Given the description of an element on the screen output the (x, y) to click on. 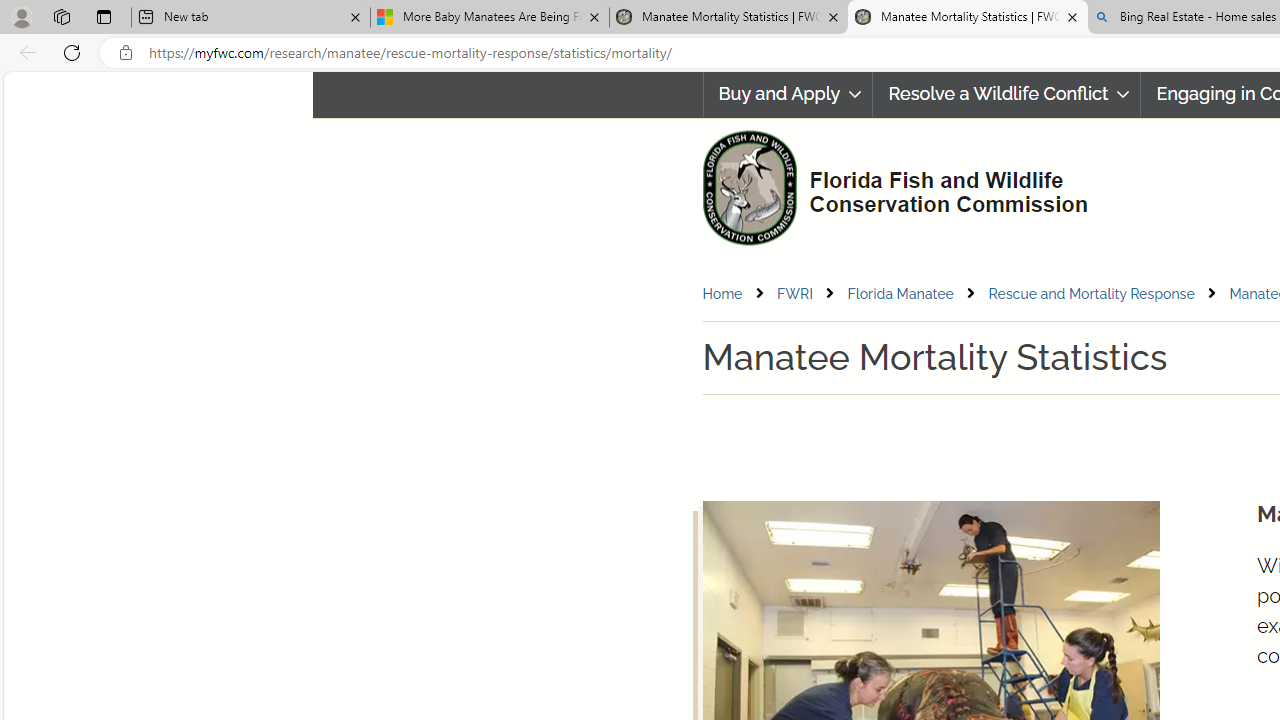
Resolve a Wildlife Conflict (1006, 94)
Rescue and Mortality Response (1091, 293)
FWC Logo (749, 187)
Rescue and Mortality Response (1107, 293)
